Given the description of an element on the screen output the (x, y) to click on. 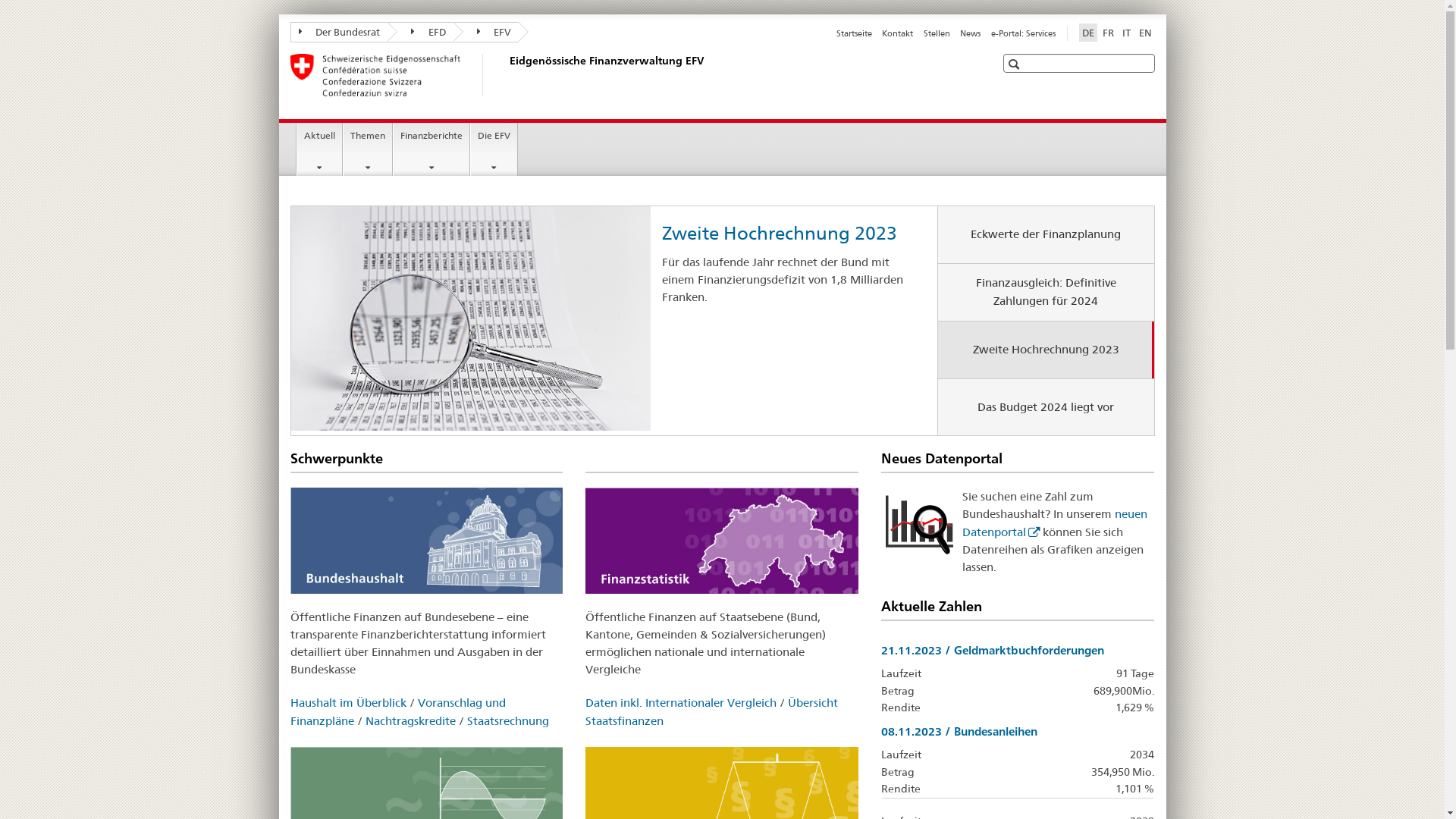
IT Element type: text (1126, 32)
Die EFV Element type: text (493, 148)
Themen Element type: text (367, 148)
Staatsrechnung Element type: text (508, 720)
Das Budget 2024 liegt vor Element type: text (1046, 407)
Aktuell Element type: text (319, 148)
Der Bundesrat Element type: text (338, 31)
EN Element type: text (1144, 32)
Eckwerte der Finanzplanung Element type: text (1046, 234)
Kontakt Element type: text (897, 33)
neuen Datenportal Element type: text (1054, 522)
EFV Element type: text (486, 31)
EFD Element type: text (420, 31)
Nachtragskredite Element type: text (410, 720)
Daten inkl. Internationaler Vergleich Element type: text (680, 702)
08.11.2023 / Bundesanleihen Element type: text (959, 731)
21.11.2023 / Geldmarktbuchforderungen Element type: text (992, 650)
DE Element type: text (1087, 32)
News Element type: text (970, 33)
FR Element type: text (1108, 32)
e-Portal: Services Element type: text (1022, 33)
Finanzberichte Element type: text (431, 148)
Startseite Element type: text (854, 33)
Zweite Hochrechnung 2023 Element type: text (1046, 349)
Stellen Element type: text (936, 33)
